Given the description of an element on the screen output the (x, y) to click on. 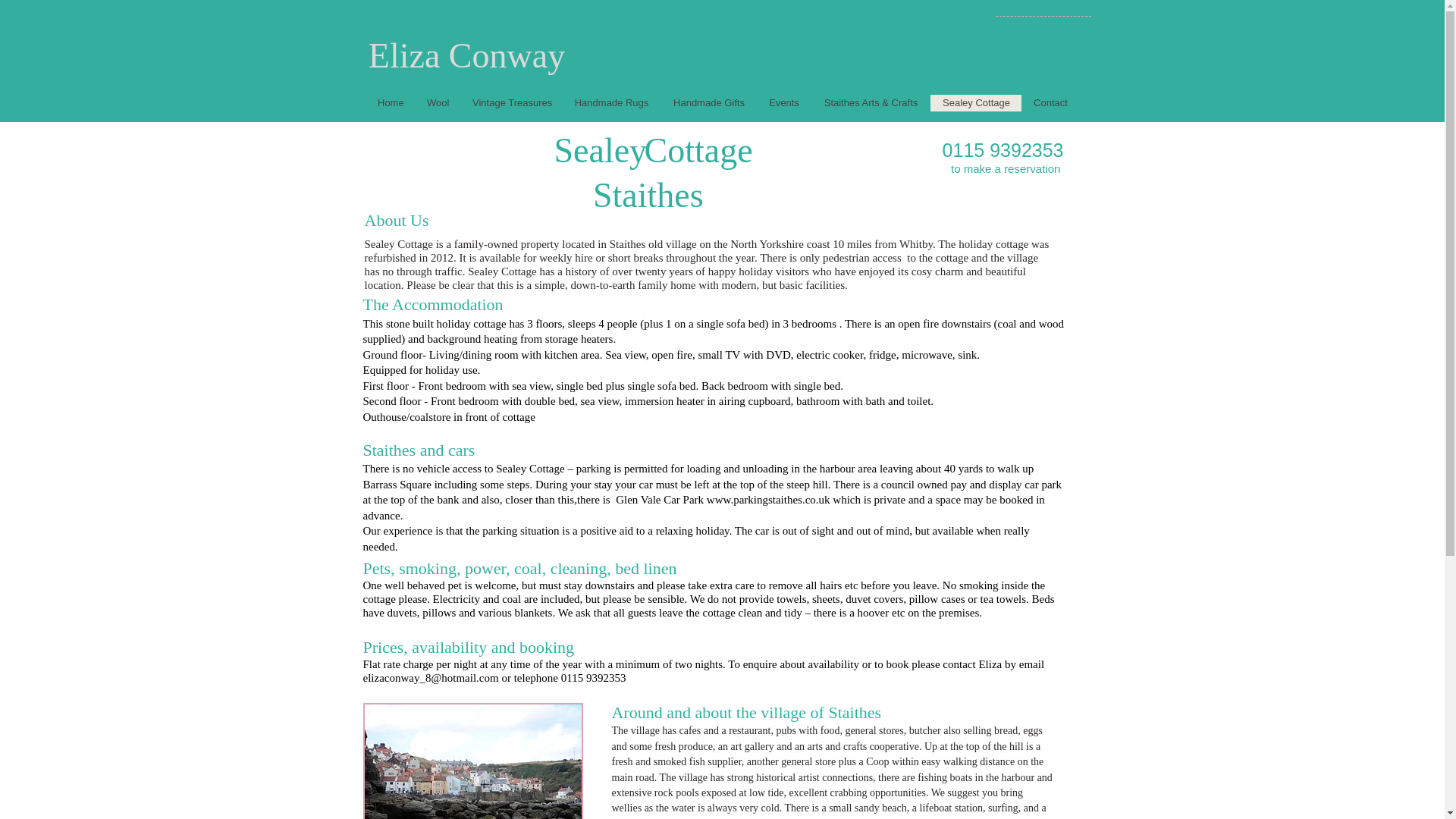
Handmade Gifts (709, 103)
Eliza Conway (466, 55)
Sealey Cottage (976, 103)
Home (389, 103)
Wool (437, 103)
Vintage Treasures (511, 103)
Events (783, 103)
Contact (1050, 103)
www.parkingstaithes.co.uk (767, 499)
Handmade Rugs (611, 103)
